Given the description of an element on the screen output the (x, y) to click on. 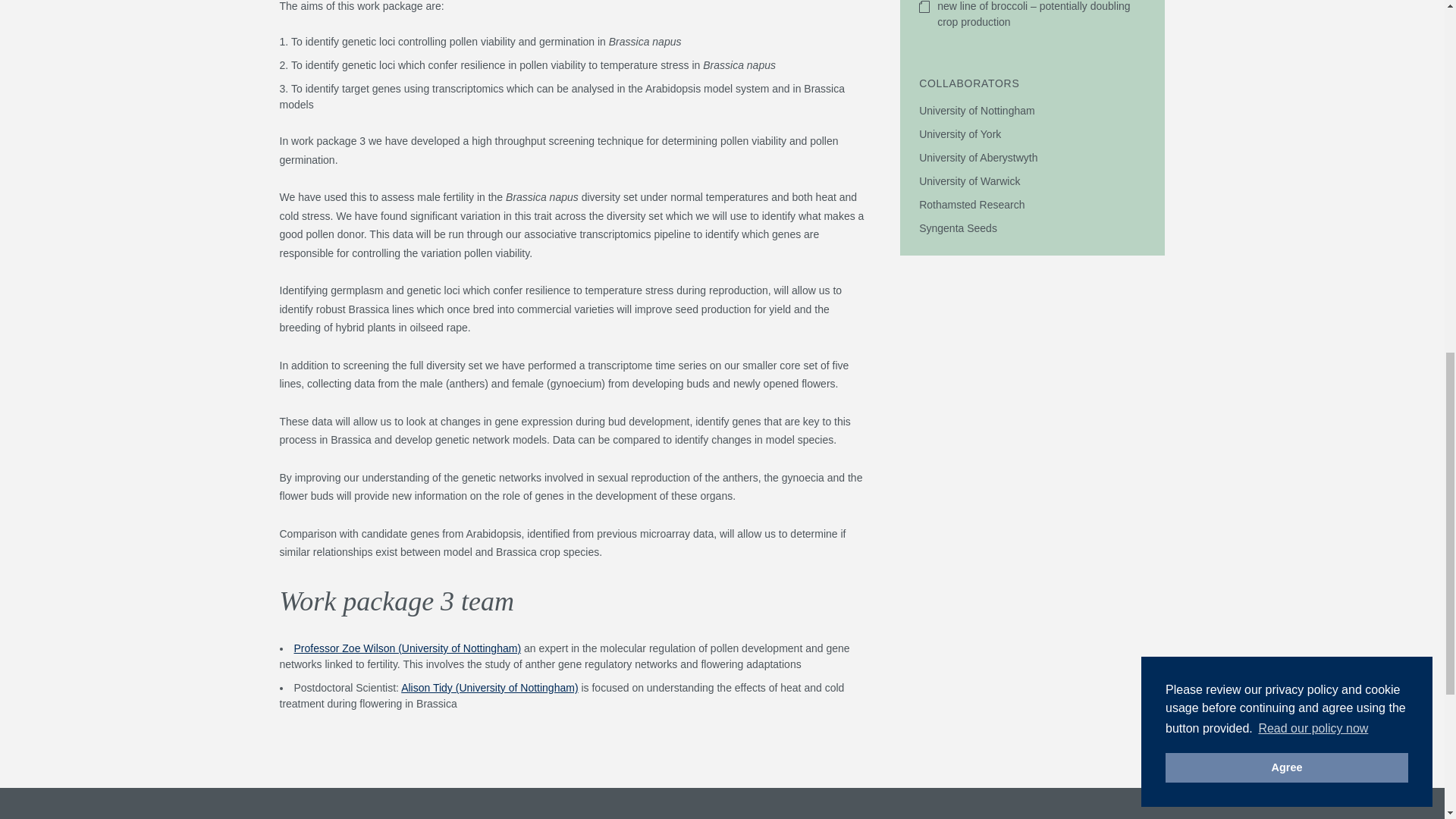
Rothamsted Research (971, 204)
Syngenta Seeds (957, 227)
University of Nottingham (976, 110)
University of York (959, 133)
University of Aberystwyth (977, 157)
University of Warwick (969, 181)
